Given the description of an element on the screen output the (x, y) to click on. 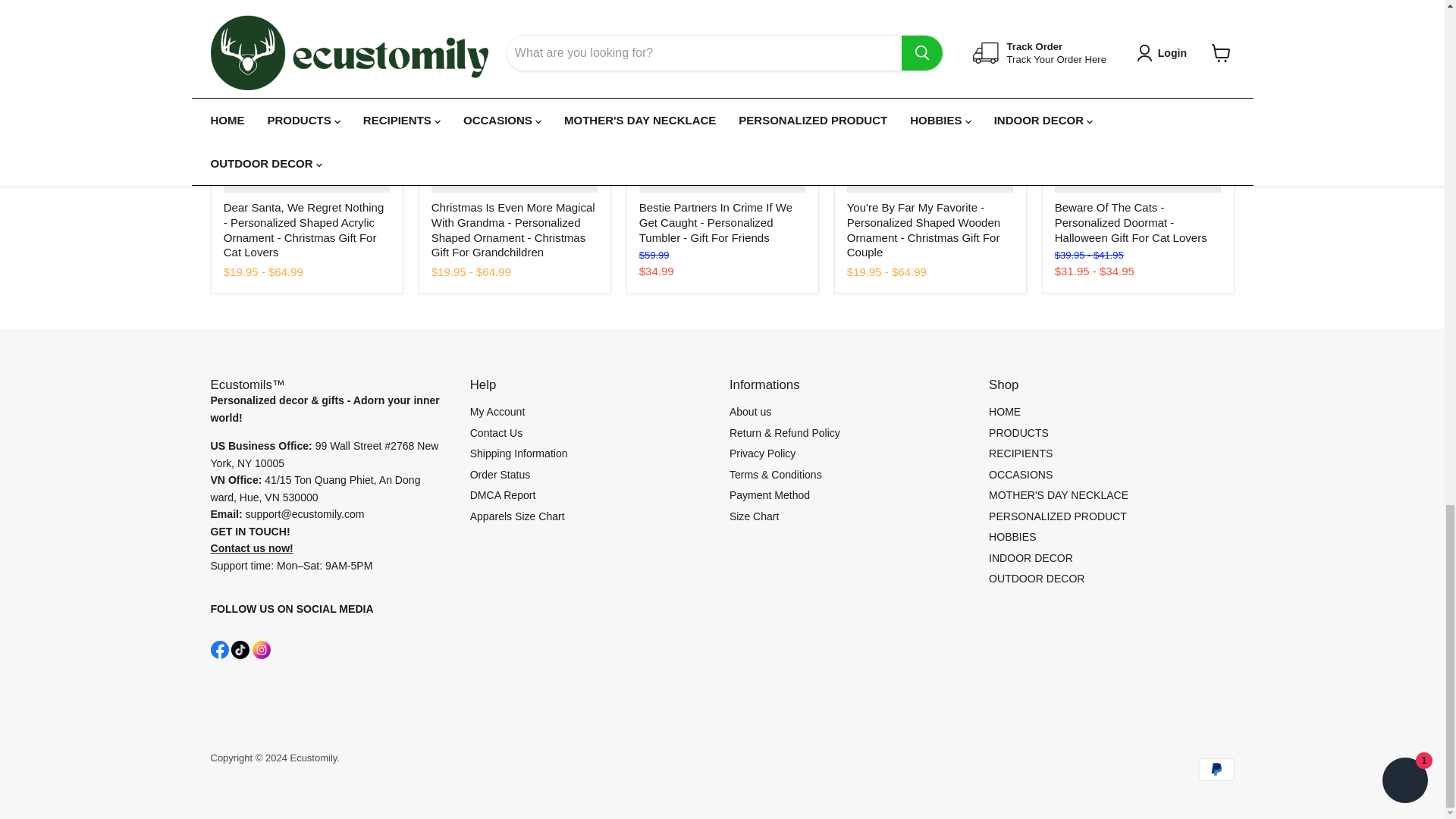
PayPal (1216, 769)
Contact Us (252, 548)
